Given the description of an element on the screen output the (x, y) to click on. 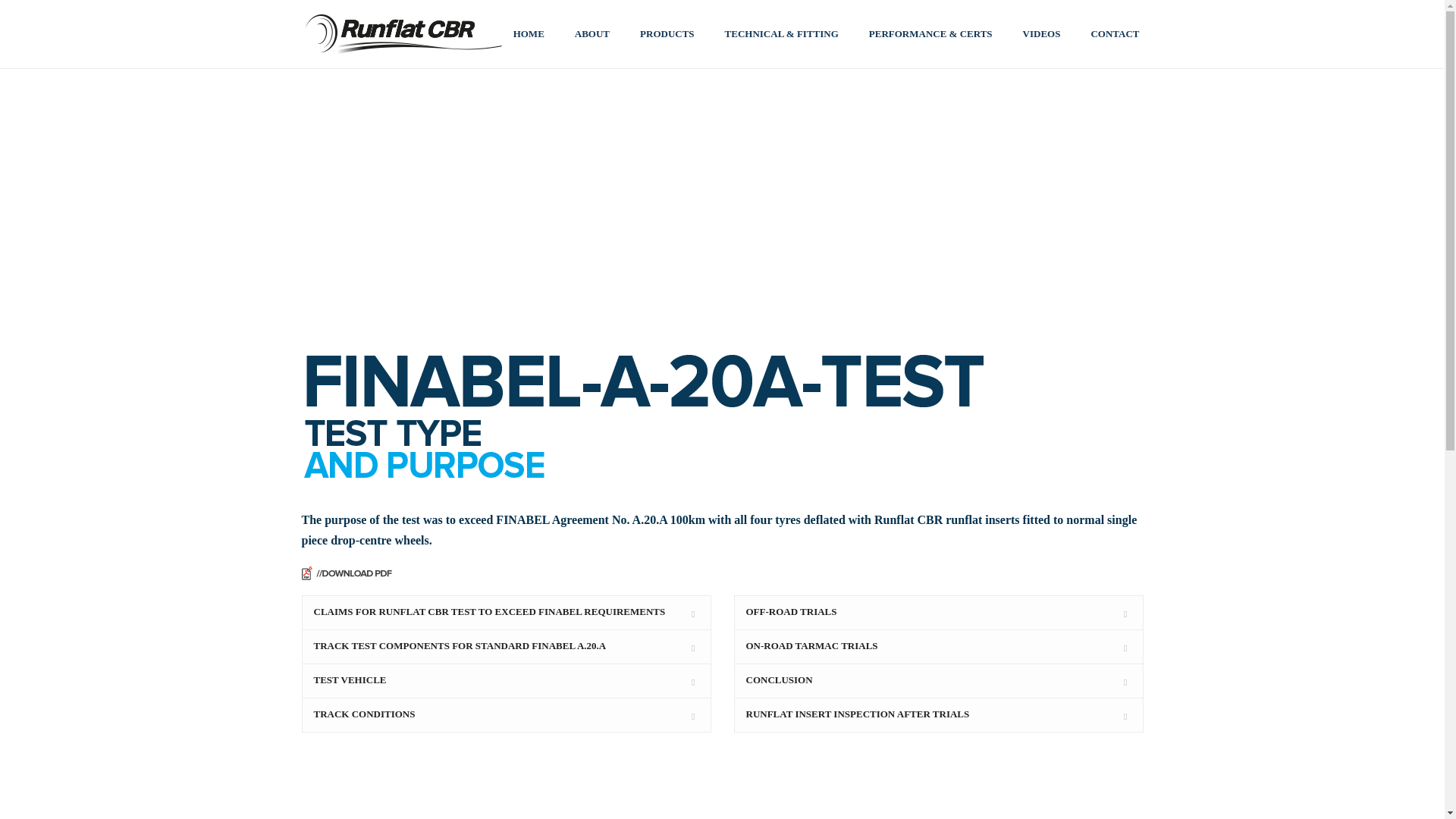
HOME (528, 34)
HOME (528, 34)
VIDEOS (1041, 34)
ABOUT (591, 34)
ABOUT (591, 34)
CONTACT (1114, 34)
A step change in runflat technology (403, 33)
finabel (651, 418)
PRODUCTS (667, 34)
PRODUCTS (667, 34)
